Given the description of an element on the screen output the (x, y) to click on. 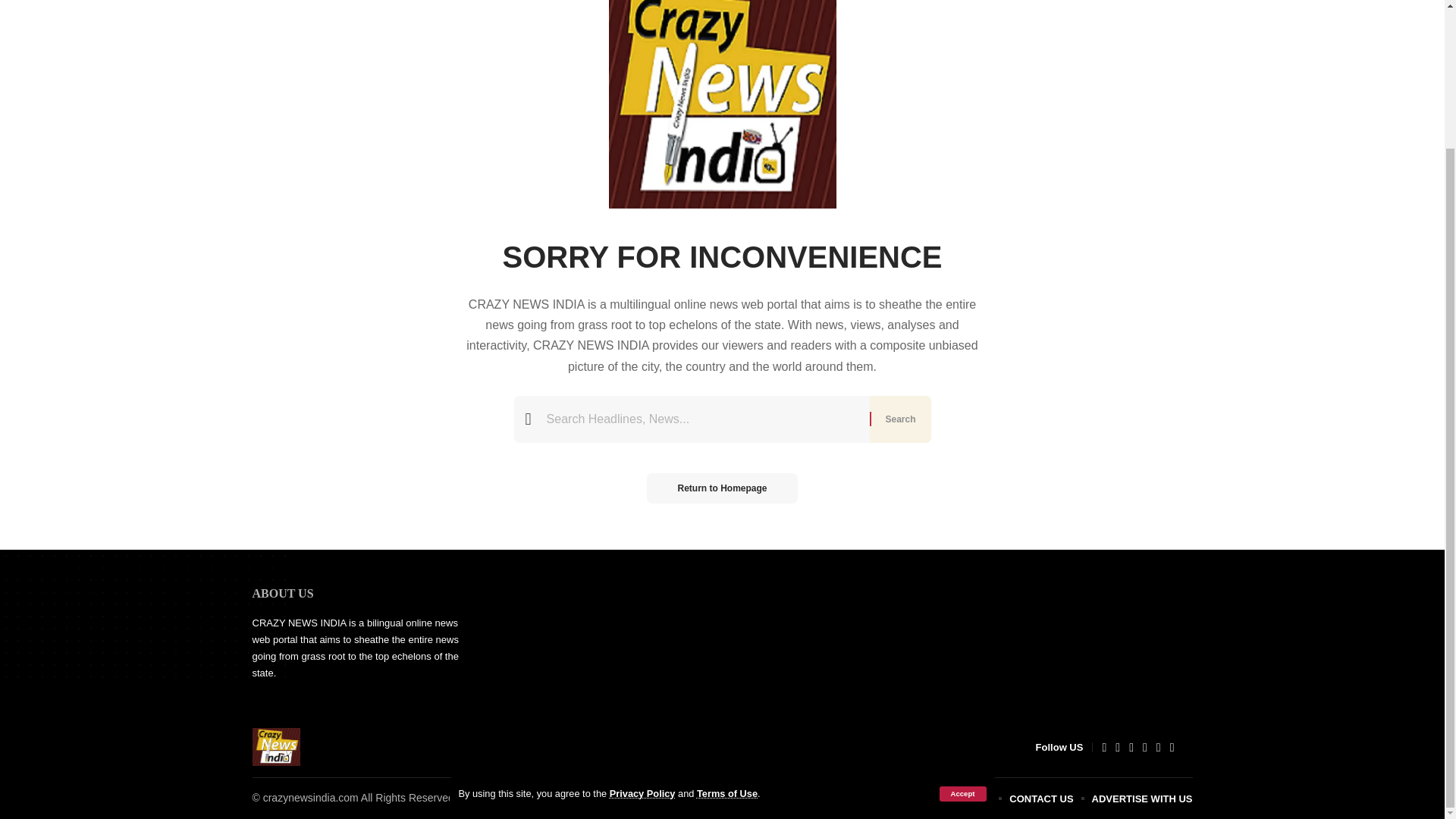
Privacy Policy (642, 622)
Search (899, 419)
Search (899, 419)
crazynewsindia.com (275, 746)
Terms of Use (727, 622)
Accept (962, 622)
